Given the description of an element on the screen output the (x, y) to click on. 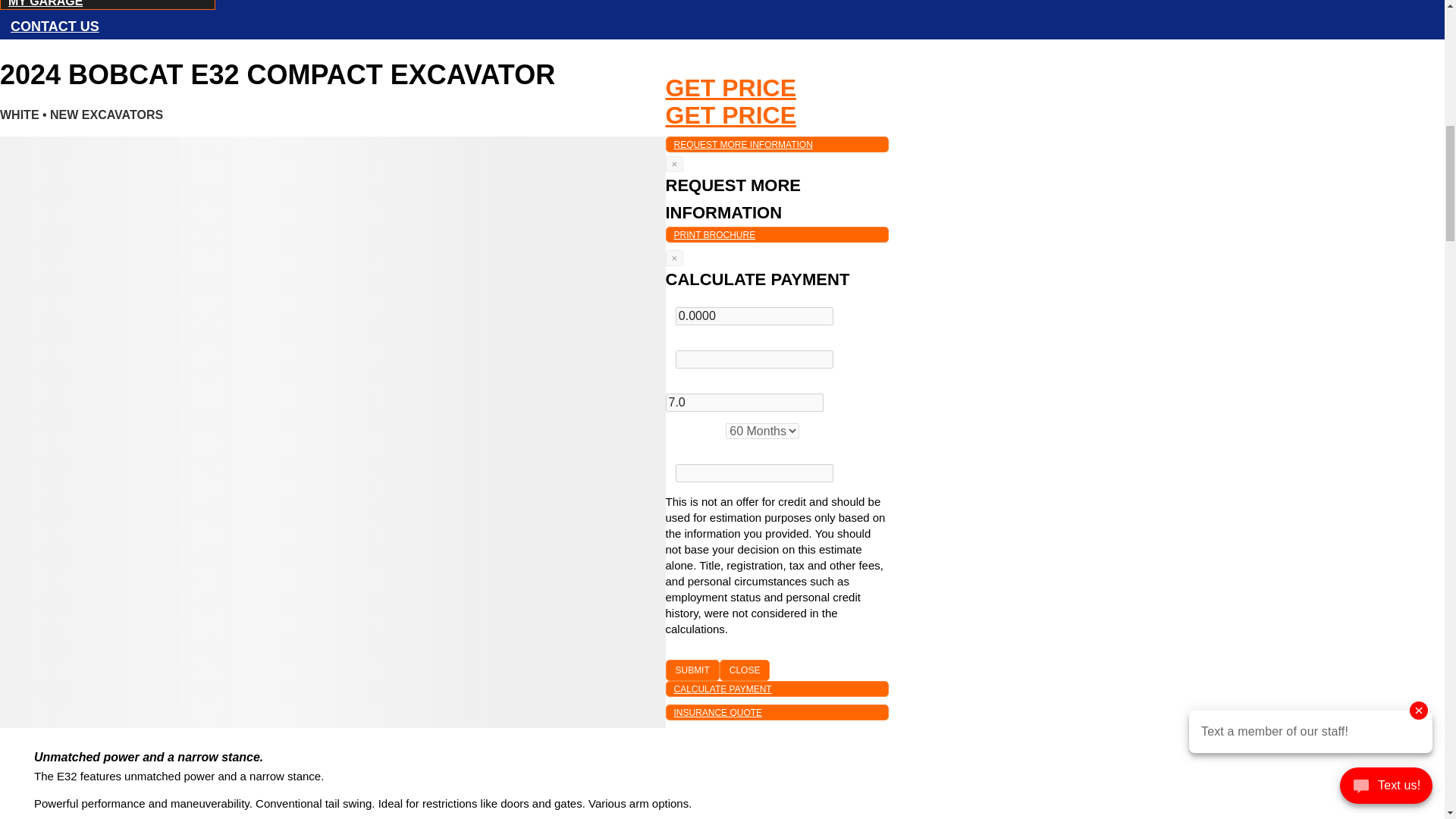
MY GARAGE (45, 5)
CONTACT US (55, 25)
7.0 (744, 402)
0.0000 (753, 316)
